Given the description of an element on the screen output the (x, y) to click on. 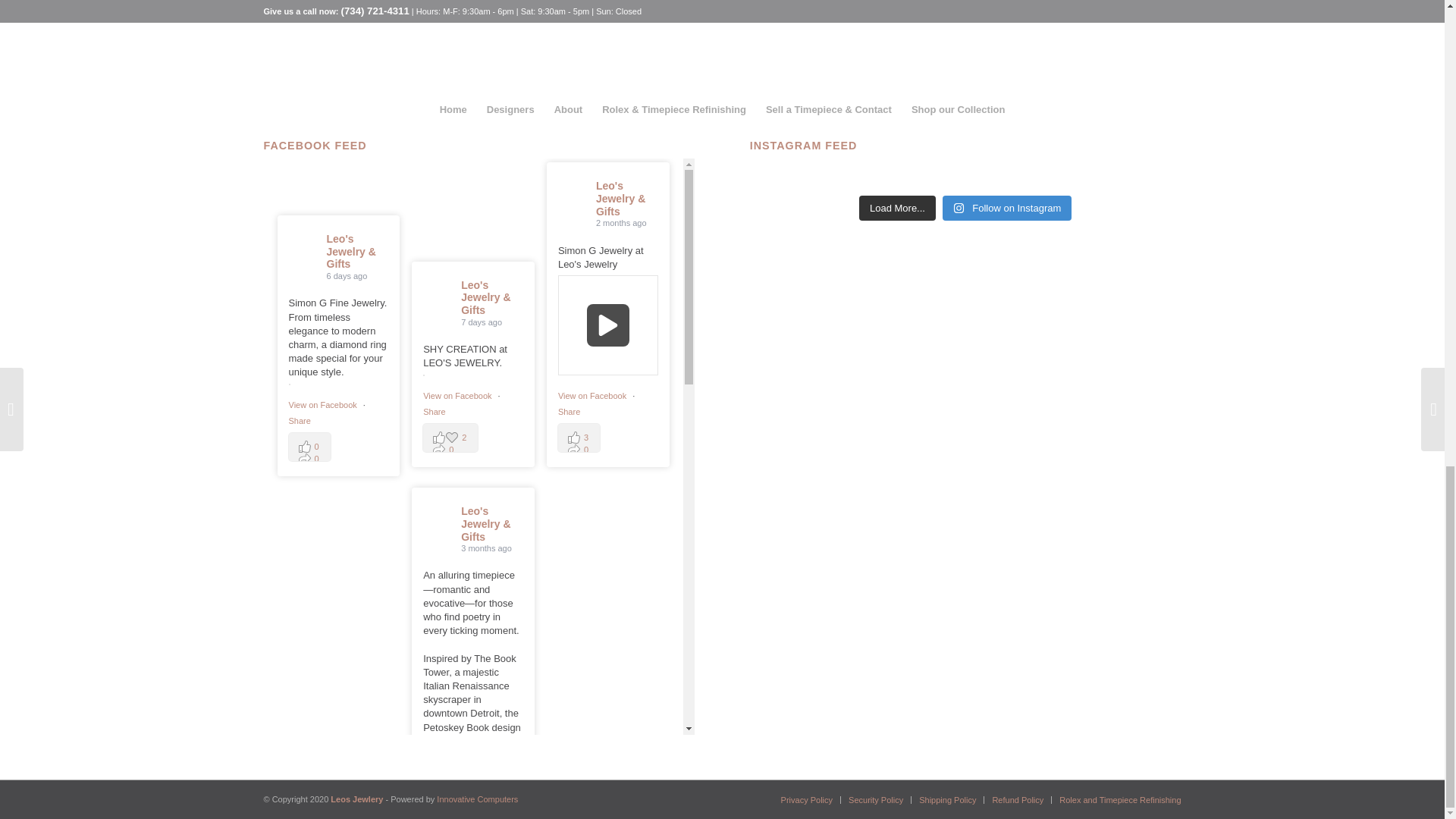
Share (299, 420)
Share (434, 411)
View on Facebook (458, 395)
View on Facebook (323, 404)
View on Facebook (592, 395)
Share (568, 411)
